Given the description of an element on the screen output the (x, y) to click on. 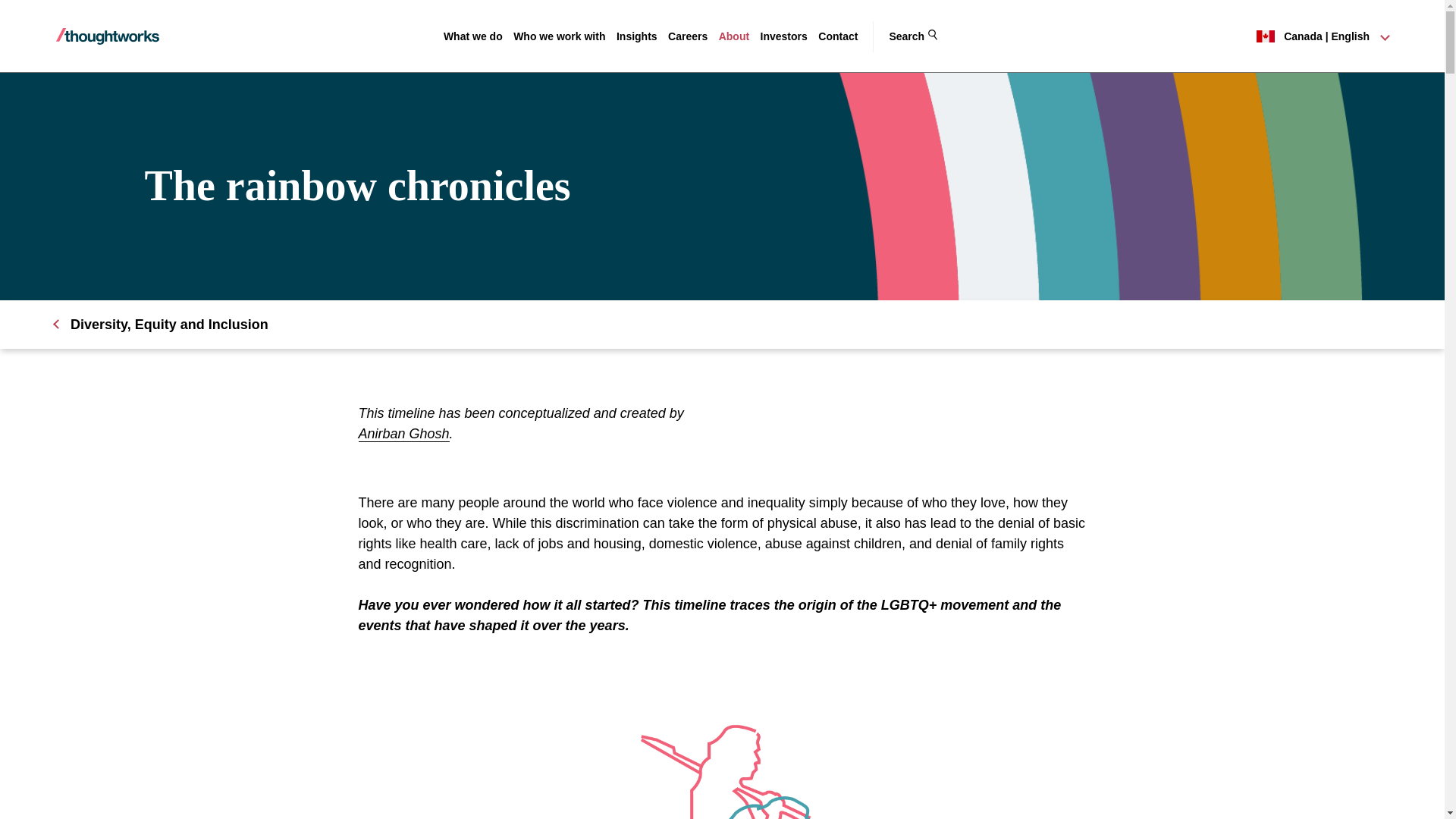
Who we work with (559, 36)
Thoughtworks (107, 36)
What we do (473, 36)
What we do (473, 36)
Who we work with (559, 36)
Careers (687, 36)
Thoughtworks (107, 36)
Insights (636, 36)
Insights (636, 36)
